Given the description of an element on the screen output the (x, y) to click on. 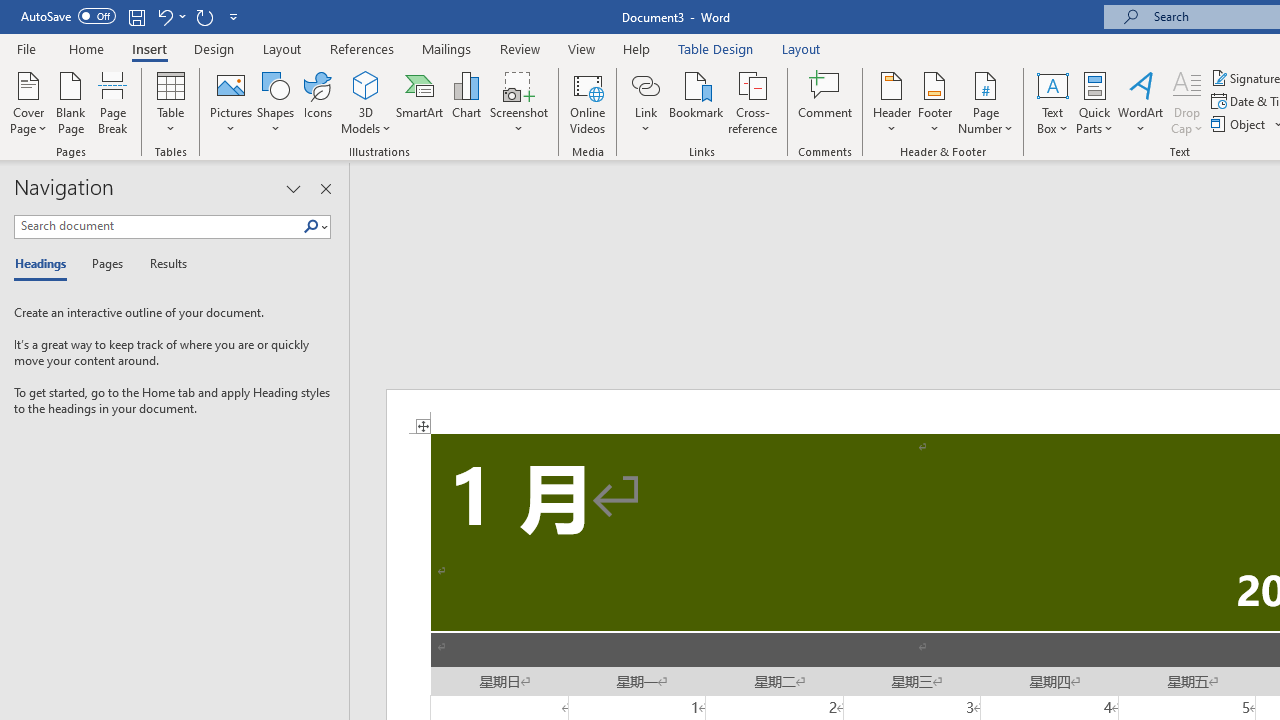
Drop Cap (1187, 102)
Footer (934, 102)
3D Models (366, 102)
Shapes (275, 102)
Comment (825, 102)
Link (645, 102)
Quick Parts (1094, 102)
Bookmark... (695, 102)
